Given the description of an element on the screen output the (x, y) to click on. 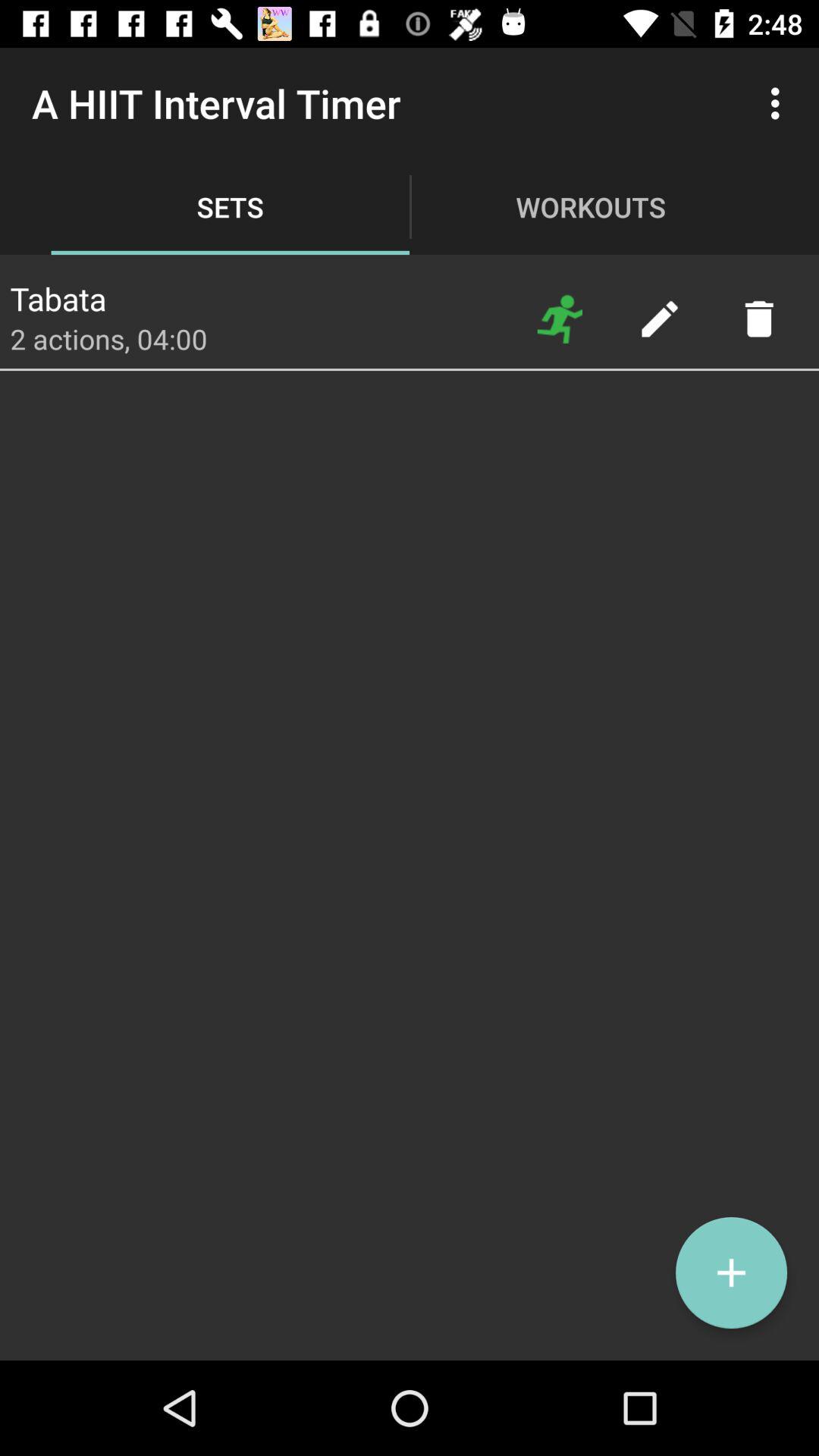
add a timer (731, 1272)
